Given the description of an element on the screen output the (x, y) to click on. 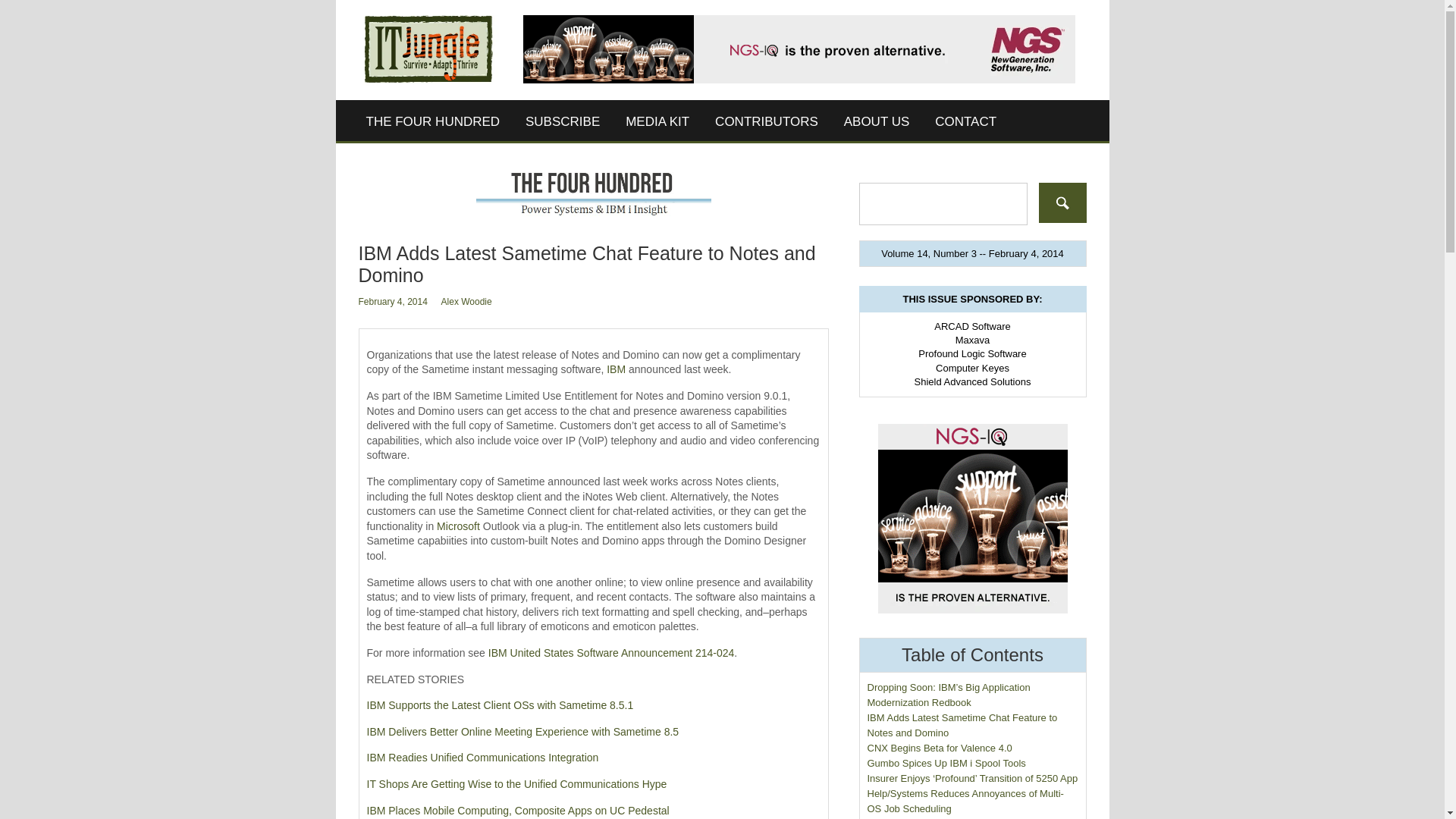
Search (1062, 202)
IBM Supports the Latest Client OSs with Sametime 8.5.1 (499, 705)
IBM Readies Unified Communications Integration (482, 757)
IBM Places Mobile Computing, Composite Apps on UC Pedestal (517, 810)
SUBSCRIBE (562, 121)
MEDIA KIT (657, 121)
CONTACT (965, 121)
IT Shops Are Getting Wise to the Unified Communications Hype (516, 784)
Microsoft (458, 526)
IBM United States Software Announcement 214-024 (611, 653)
